Given the description of an element on the screen output the (x, y) to click on. 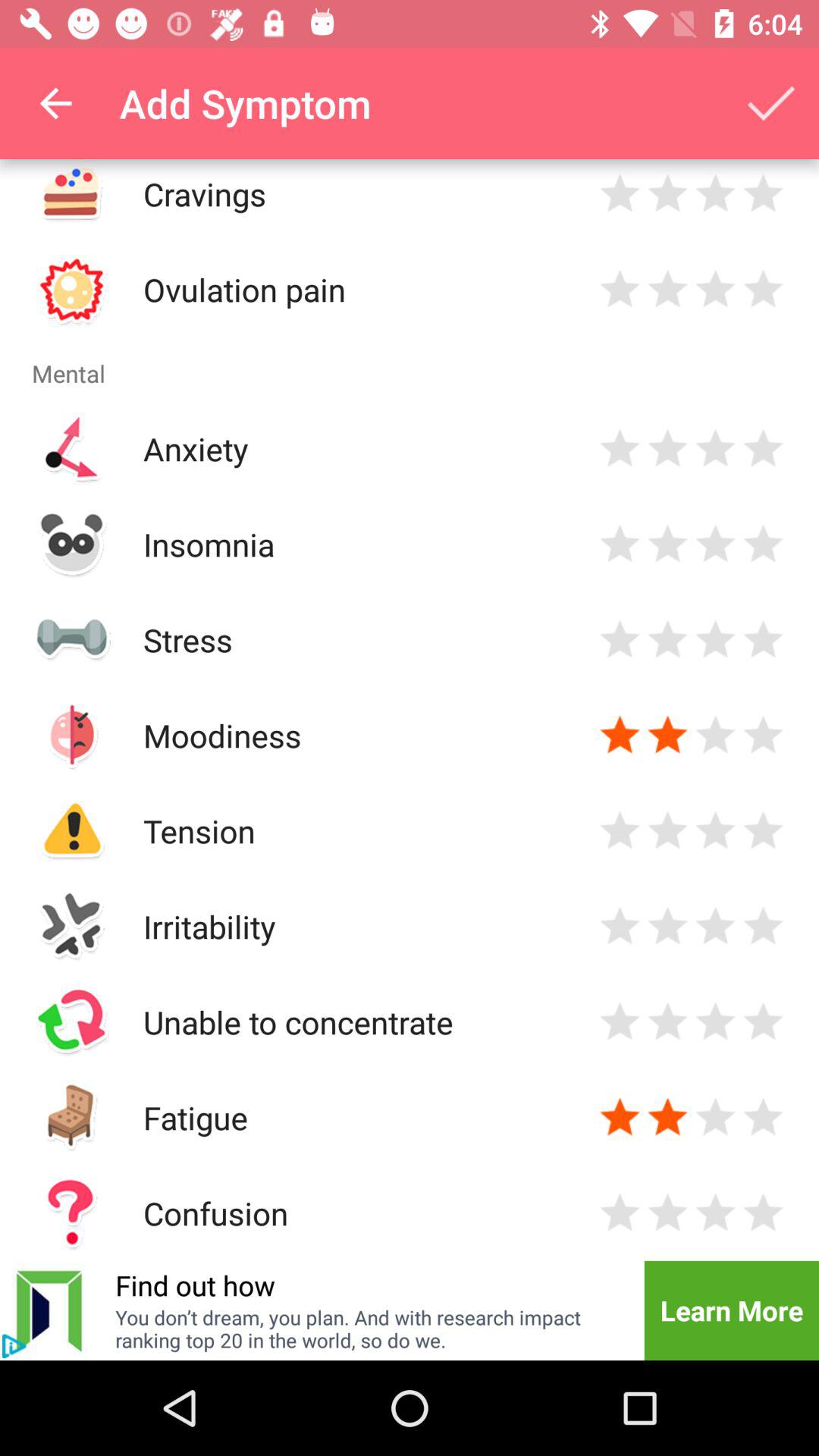
two star rating (667, 735)
